Given the description of an element on the screen output the (x, y) to click on. 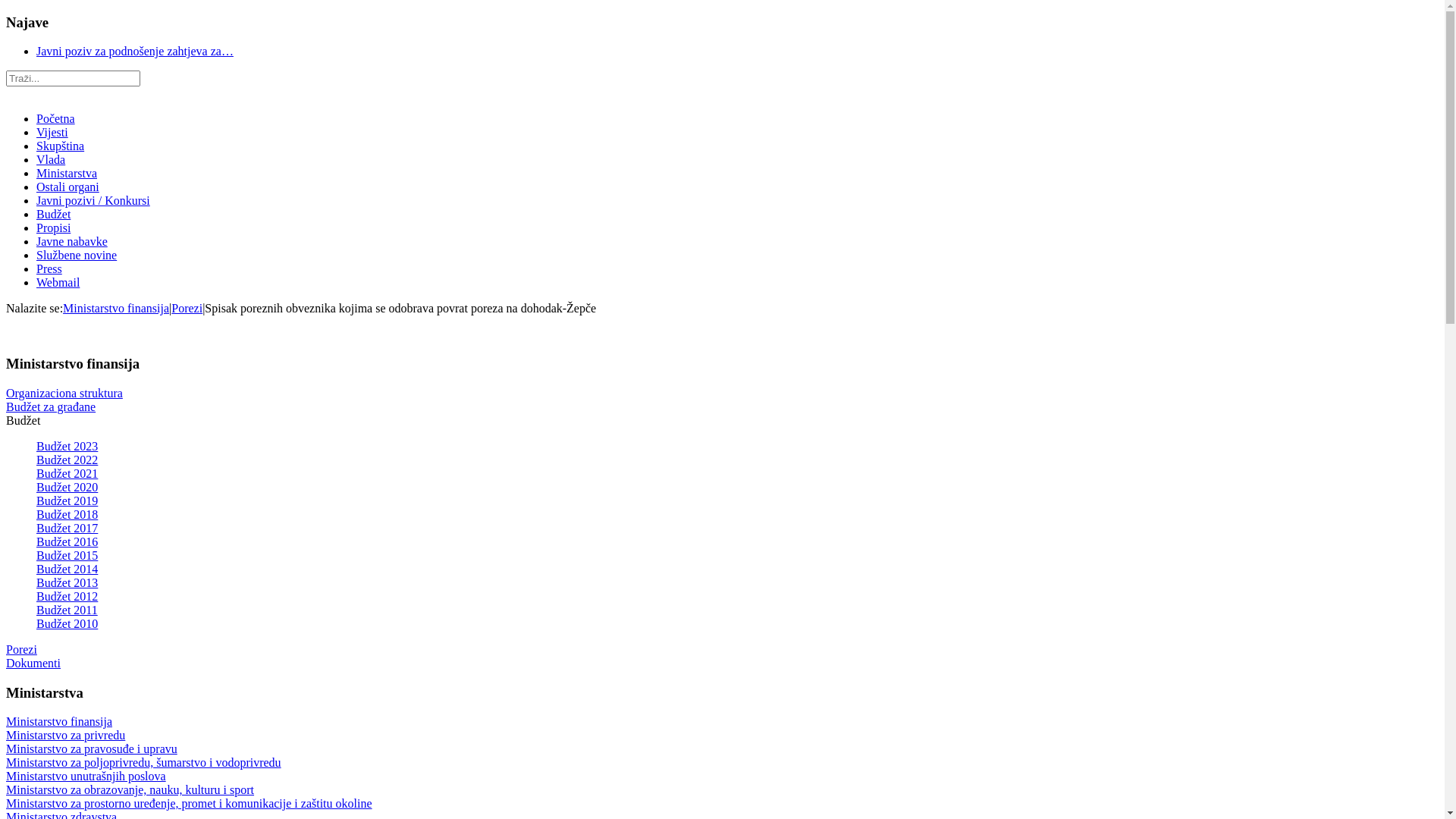
Vijesti Element type: text (52, 131)
Ministarstva Element type: text (66, 172)
Porezi Element type: text (21, 649)
Organizaciona struktura Element type: text (64, 392)
Ministarstvo za privredu Element type: text (65, 734)
Propisi Element type: text (53, 227)
Javni pozivi / Konkursi Element type: text (93, 200)
Porezi Element type: text (186, 307)
Vlada Element type: text (50, 159)
Ostali organi Element type: text (67, 186)
Javne nabavke Element type: text (71, 241)
Dokumenti Element type: text (33, 662)
Ministarstvo finansija Element type: text (59, 721)
Press Element type: text (49, 268)
Webmail Element type: text (57, 282)
Ministarstvo finansija Element type: text (115, 307)
Ministarstvo za obrazovanje, nauku, kulturu i sport Element type: text (130, 789)
